Given the description of an element on the screen output the (x, y) to click on. 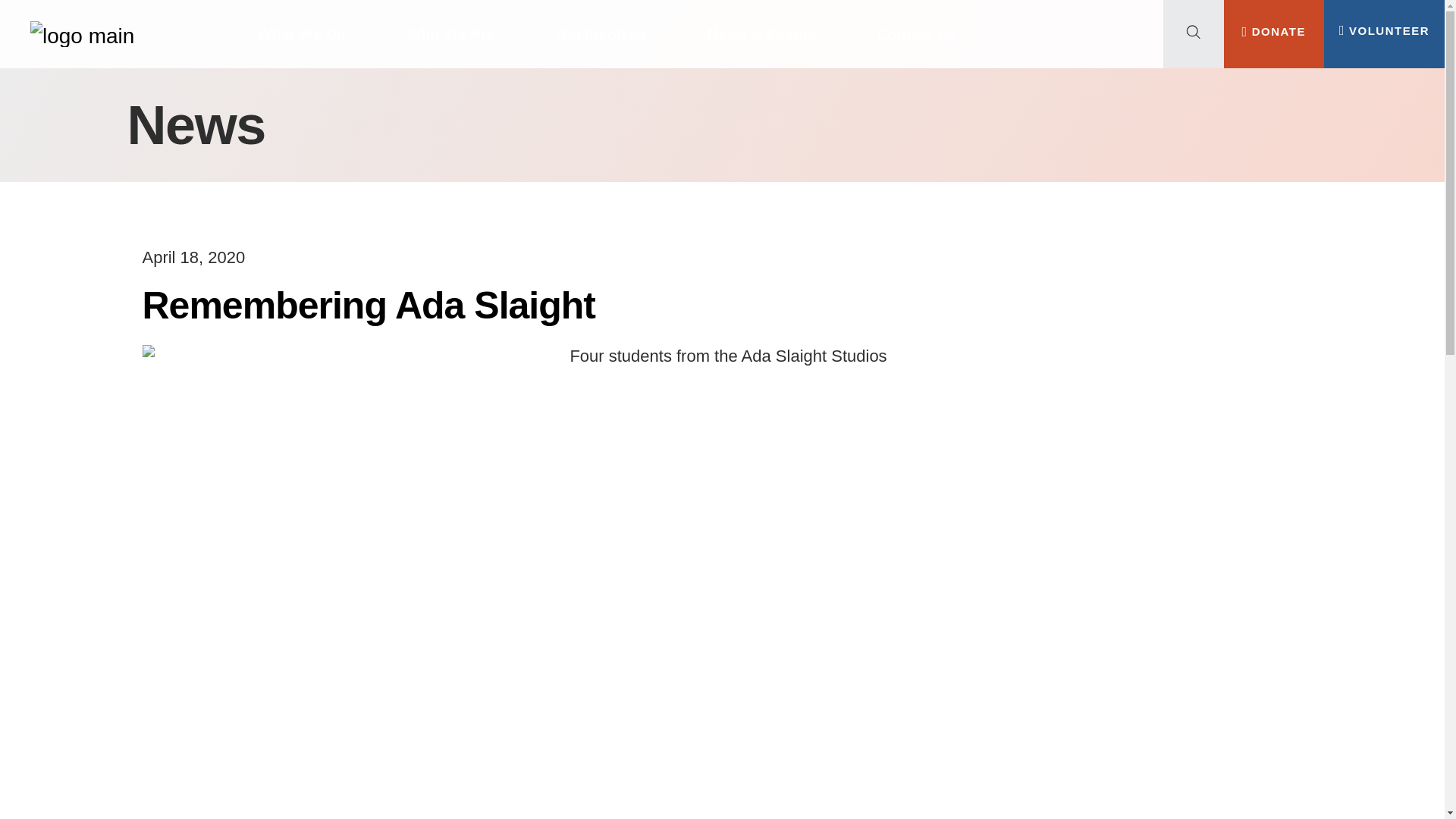
VOLUNTEER (1384, 29)
What We Do (301, 33)
Who We Are (450, 33)
DONATE (1273, 30)
Contact Us (916, 33)
Search (140, 91)
Get Involved (601, 33)
